Given the description of an element on the screen output the (x, y) to click on. 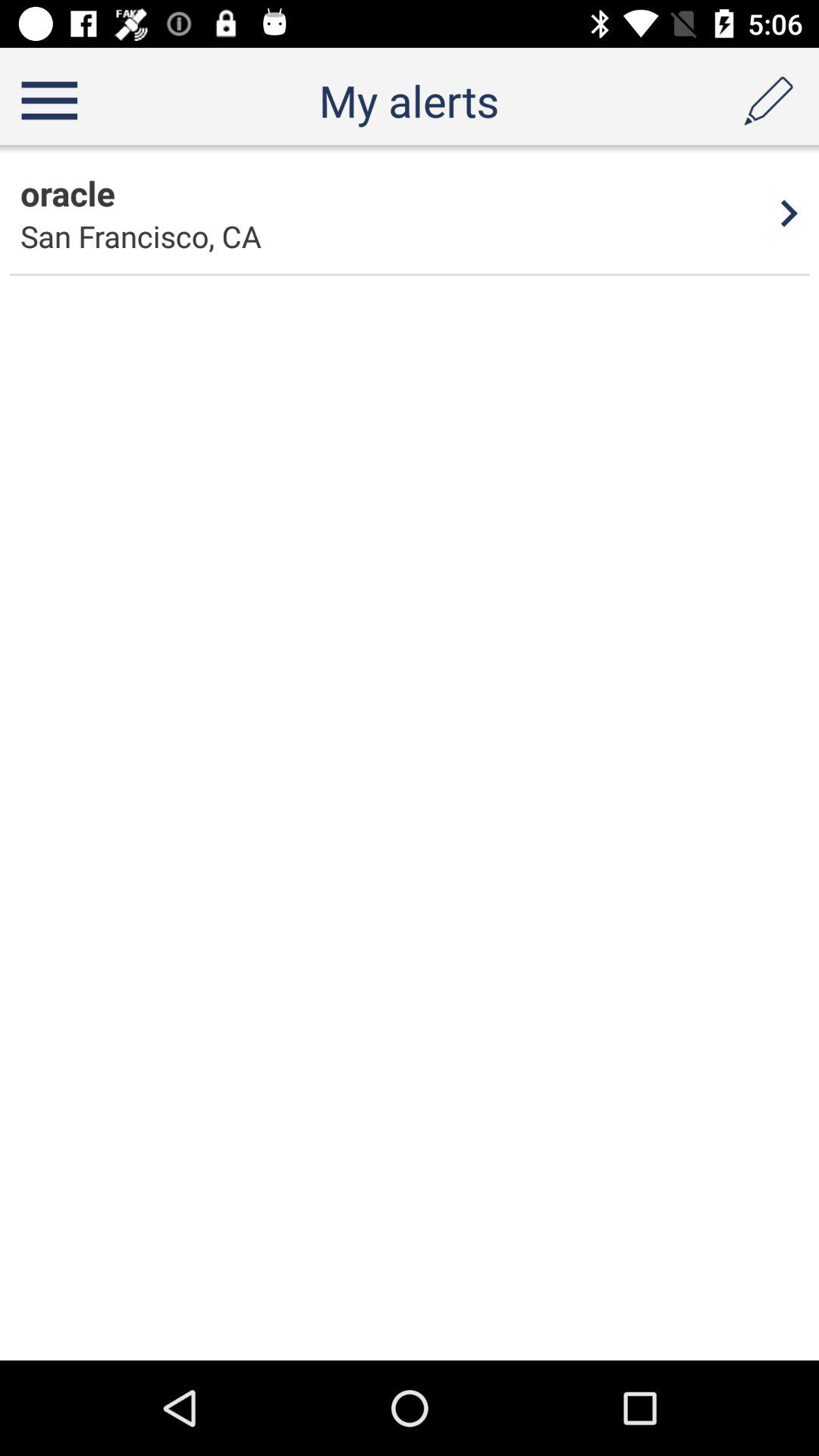
turn on item next to the san francisco, ca icon (789, 213)
